Given the description of an element on the screen output the (x, y) to click on. 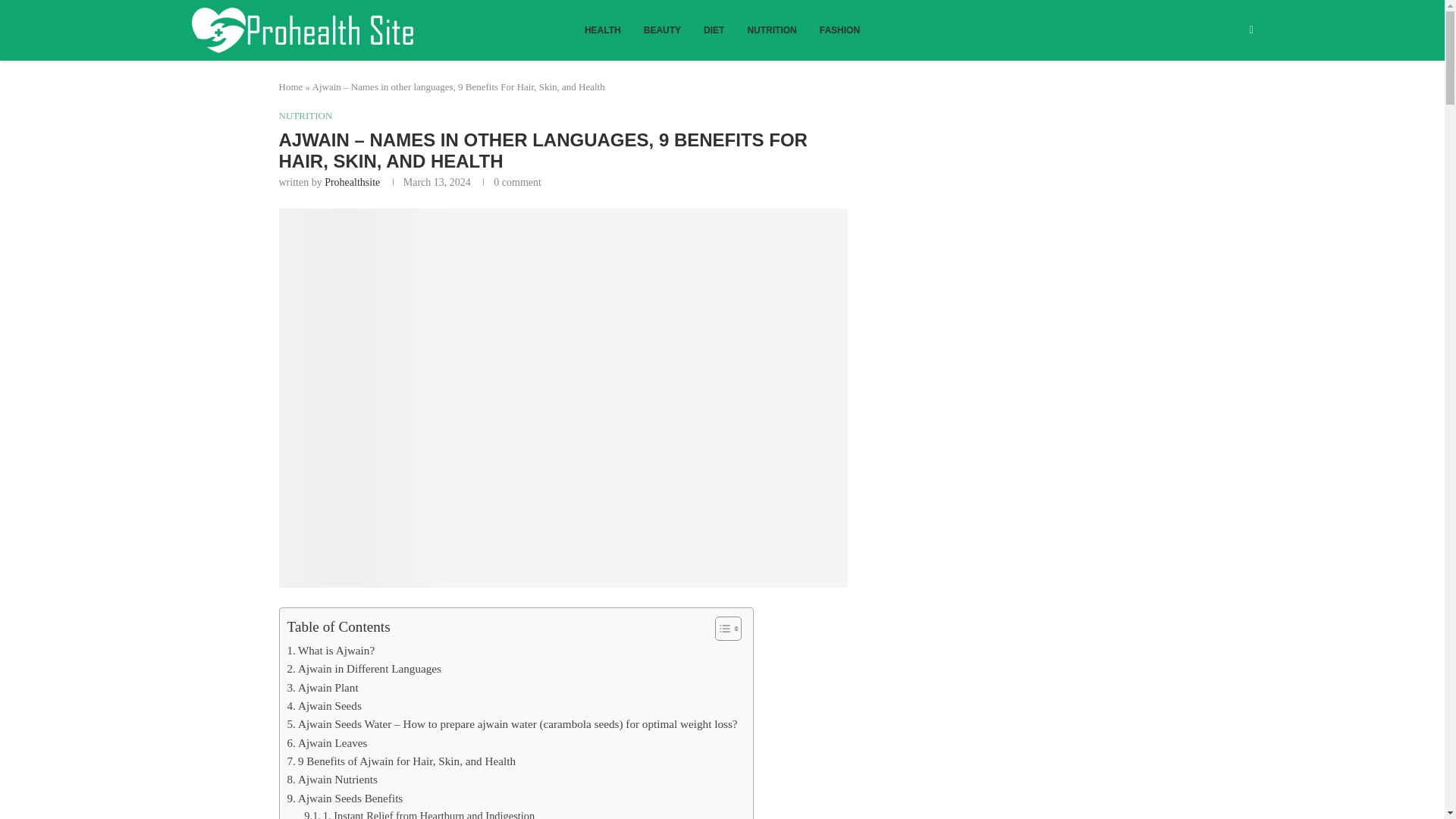
NUTRITION (771, 30)
DIET (714, 30)
Ajwain Plant (322, 687)
BEAUTY (662, 30)
Ajwain Seeds (323, 705)
FASHION (839, 30)
Ajwain in Different Languages (363, 669)
Ajwain Nutrients (331, 779)
9 Benefits of Ajwain for Hair, Skin, and Health (400, 761)
Prohealthsite (352, 182)
